Given the description of an element on the screen output the (x, y) to click on. 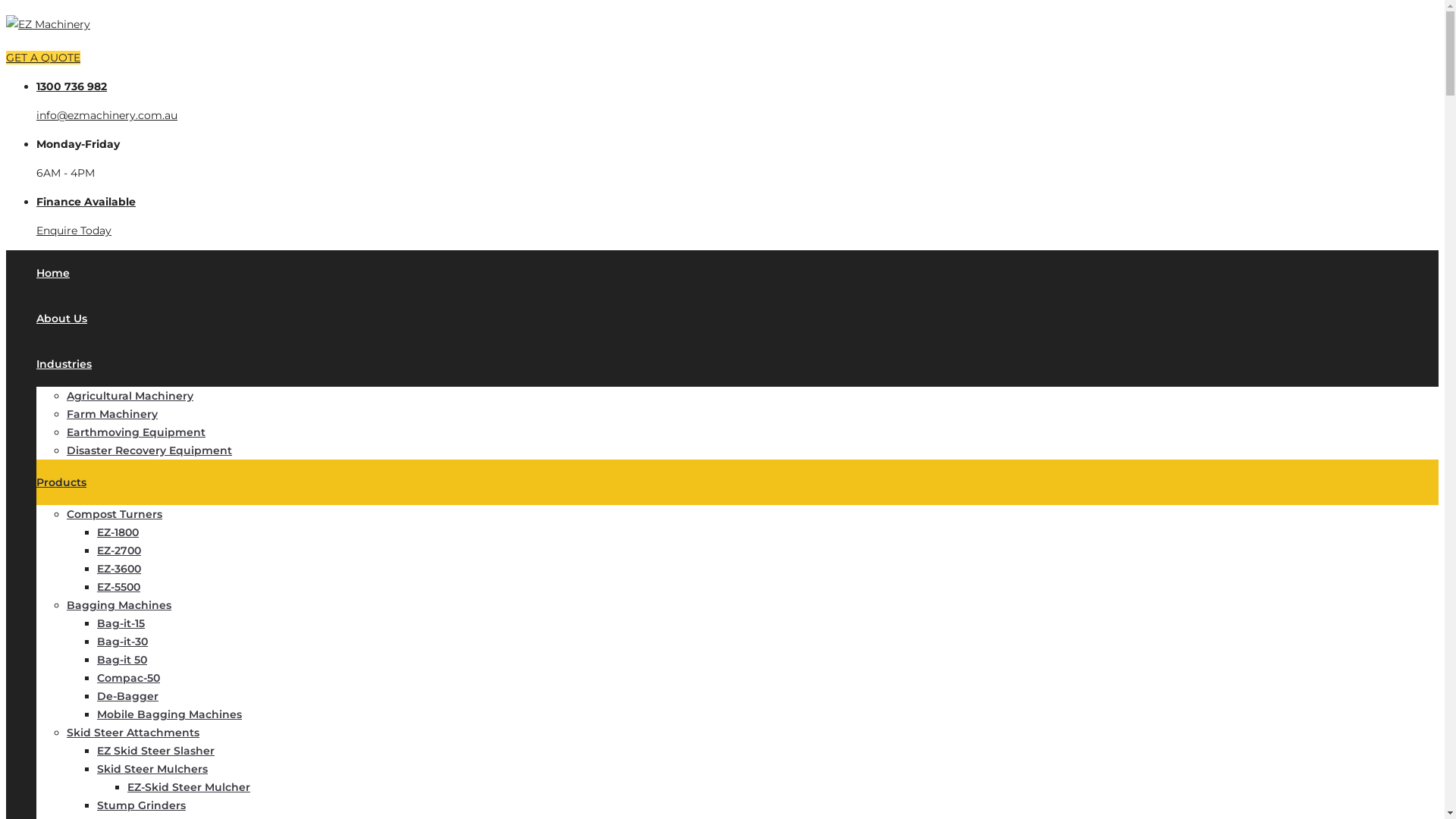
EZ-1800 Element type: text (117, 532)
Skid Steer Attachments Element type: text (132, 732)
Bag-it 50 Element type: text (122, 659)
EZ Machinery Element type: hover (48, 24)
Products Element type: text (61, 482)
EZ-2700 Element type: text (119, 550)
De-Bagger Element type: text (127, 695)
EZ-5500 Element type: text (118, 586)
Compost Turners Element type: text (114, 513)
Agricultural Machinery Element type: text (129, 395)
Industries Element type: text (63, 363)
Skid Steer Mulchers Element type: text (152, 768)
Bag-it-30 Element type: text (122, 641)
EZ-3600 Element type: text (119, 568)
Disaster Recovery Equipment Element type: text (149, 450)
Compac-50 Element type: text (128, 677)
Finance Available Element type: text (85, 201)
Home Element type: text (52, 272)
info@ezmachinery.com.au Element type: text (106, 115)
1300 736 982 Element type: text (71, 86)
Bag-it-15 Element type: text (120, 623)
About Us Element type: text (61, 318)
Stump Grinders Element type: text (141, 805)
GET A QUOTE Element type: text (43, 57)
EZ-Skid Steer Mulcher Element type: text (188, 786)
EZ Skid Steer Slasher Element type: text (155, 750)
Farm Machinery Element type: text (111, 413)
Mobile Bagging Machines Element type: text (169, 714)
Bagging Machines Element type: text (118, 604)
Enquire Today Element type: text (73, 230)
Earthmoving Equipment Element type: text (135, 432)
